Given the description of an element on the screen output the (x, y) to click on. 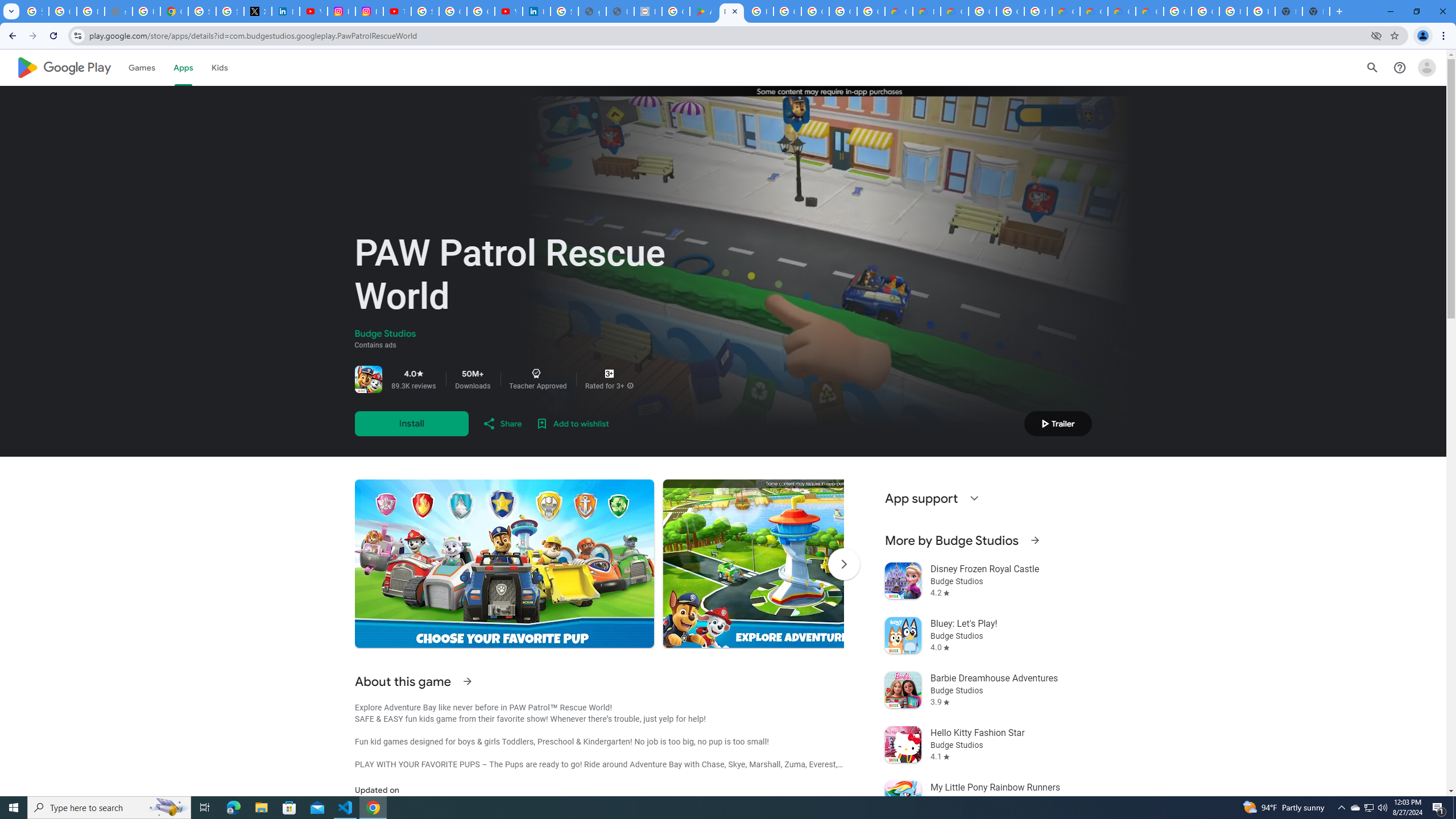
Sign in - Google Accounts (425, 11)
New Tab (1316, 11)
Google Cloud Platform (1010, 11)
Apps (182, 67)
Play trailer (1058, 423)
Google Cloud Service Health (1150, 11)
Sign in - Google Accounts (202, 11)
